Given the description of an element on the screen output the (x, y) to click on. 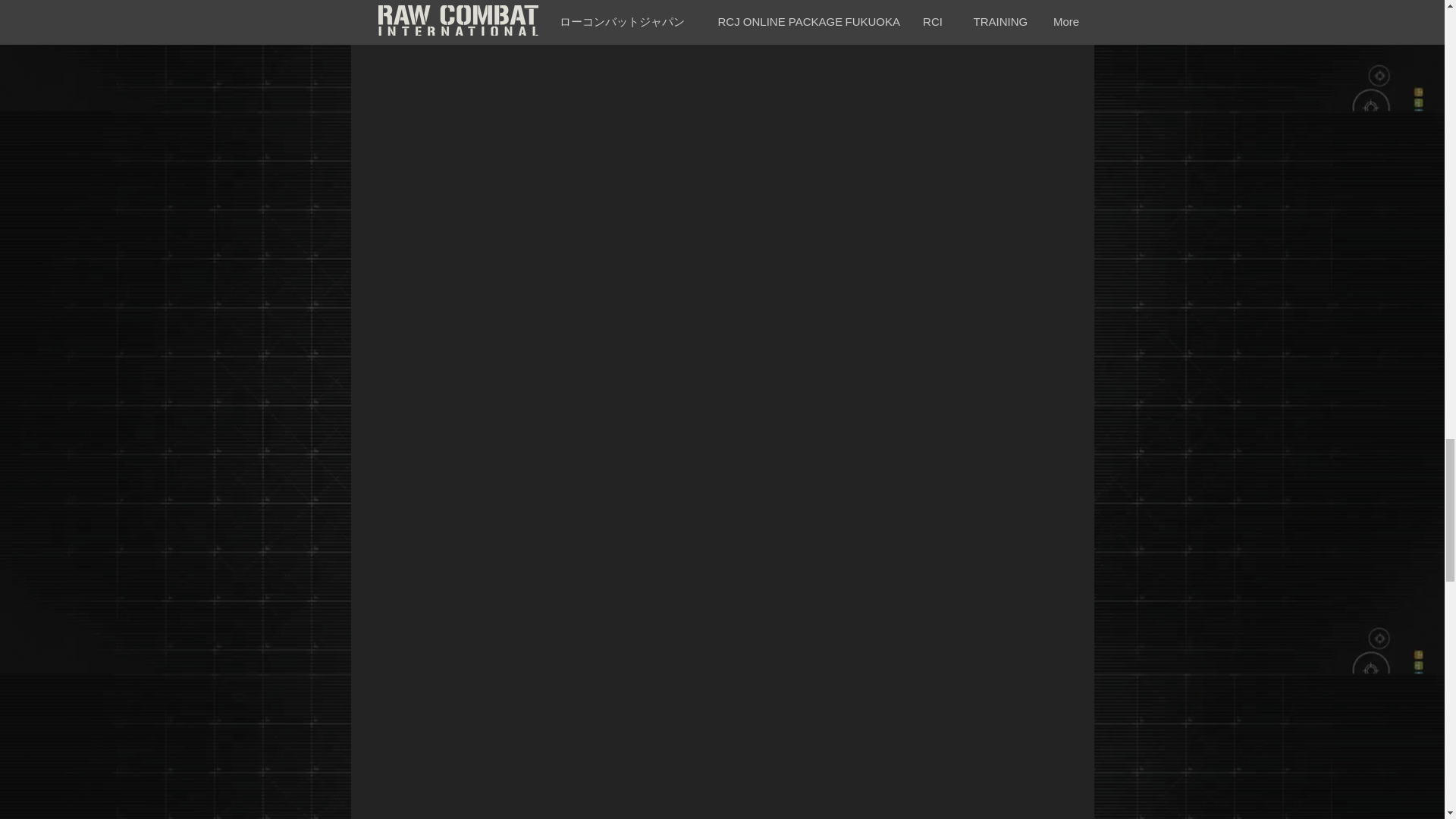
External YouTube (746, 38)
External YouTube (745, 694)
